Given the description of an element on the screen output the (x, y) to click on. 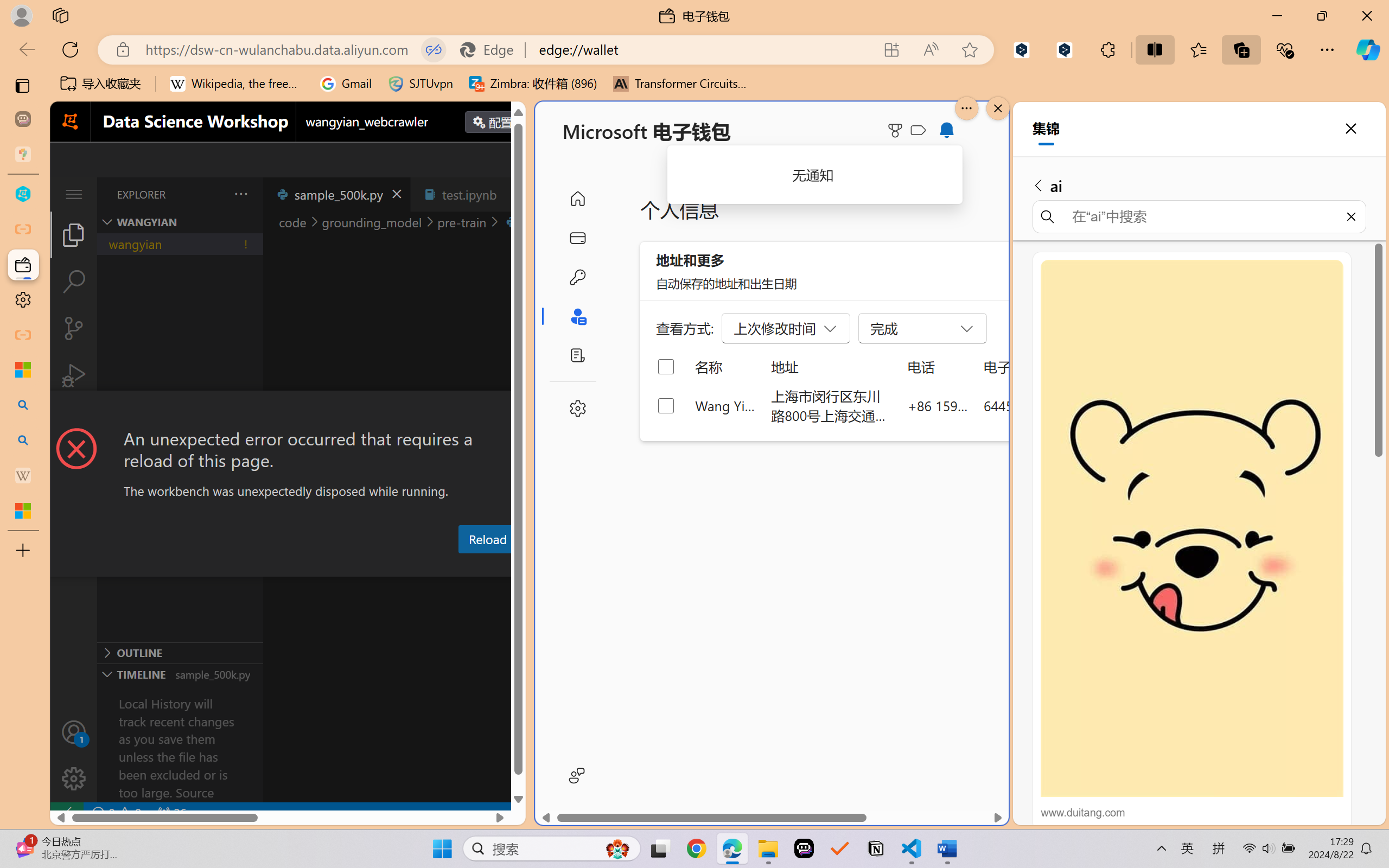
Terminal (Ctrl+`) (553, 565)
Microsoft Rewards (896, 129)
Debug Console (Ctrl+Shift+Y) (463, 565)
Close (Ctrl+F4) (512, 194)
Outline Section (179, 652)
Search (Ctrl+Shift+F) (73, 281)
